Given the description of an element on the screen output the (x, y) to click on. 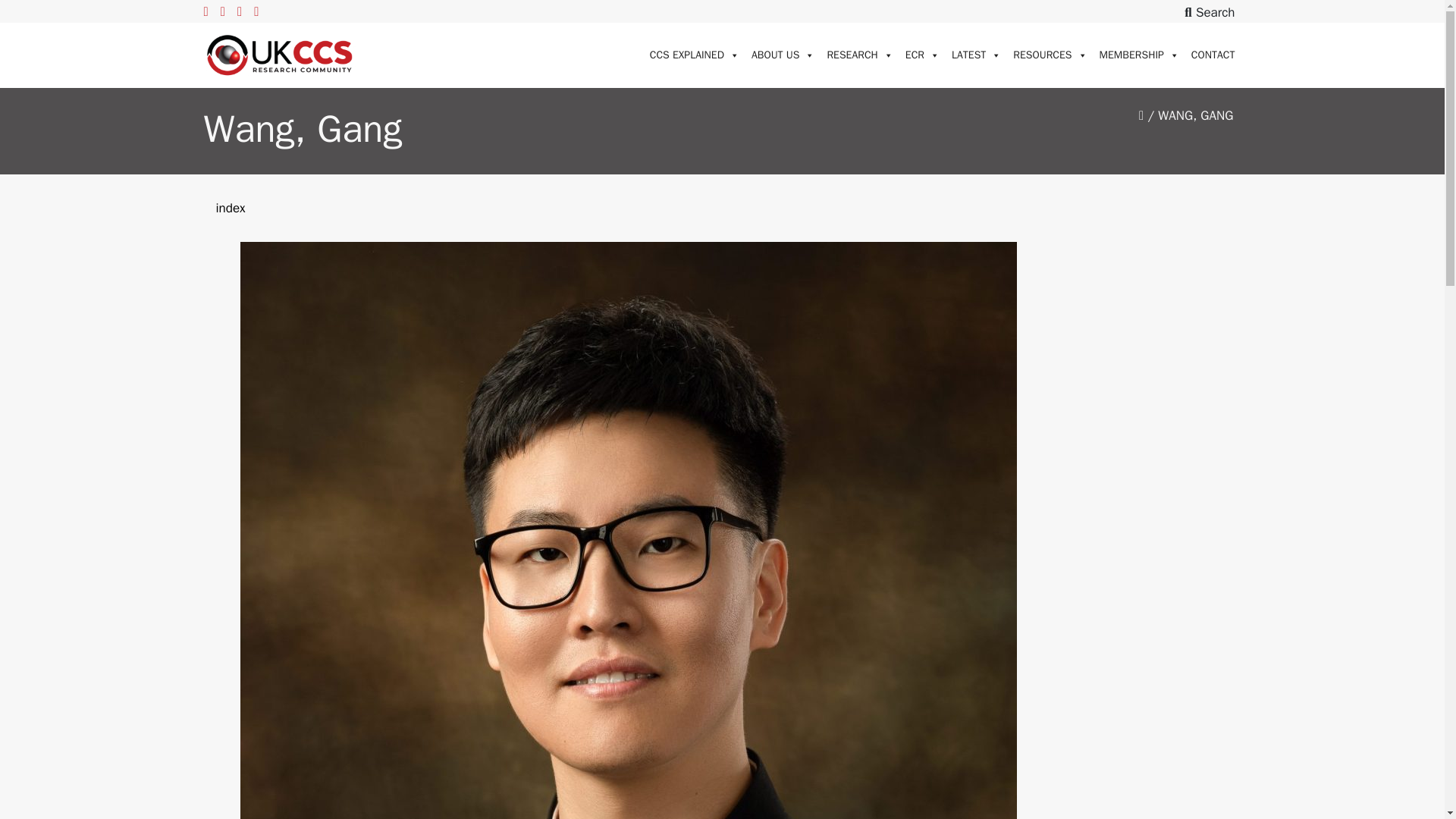
CCS EXPLAINED (694, 55)
ABOUT US (783, 55)
LATEST (975, 55)
RESEARCH (859, 55)
Search (1209, 12)
ECR (921, 55)
